Given the description of an element on the screen output the (x, y) to click on. 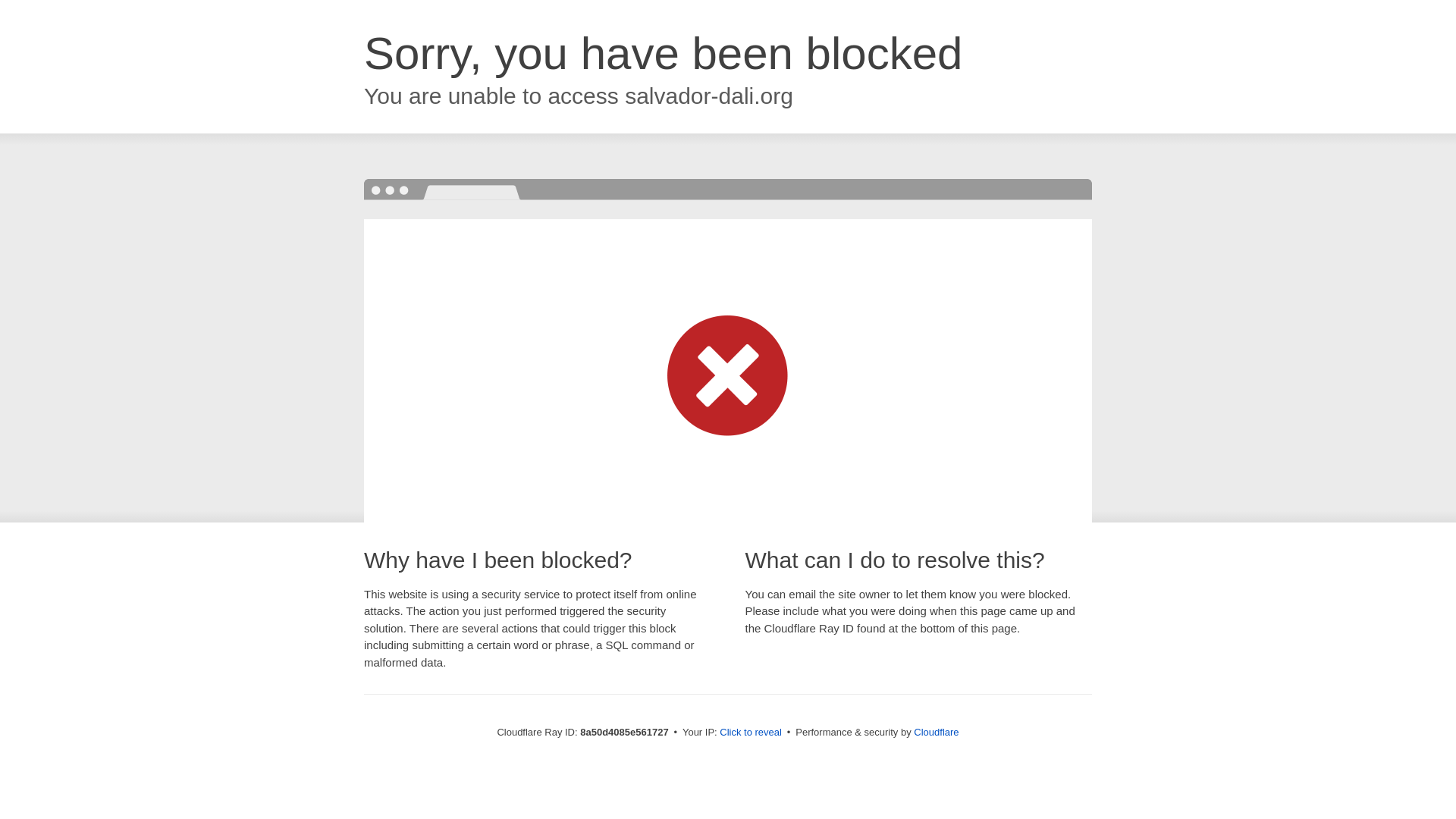
Click to reveal (750, 732)
Cloudflare (936, 731)
